Given the description of an element on the screen output the (x, y) to click on. 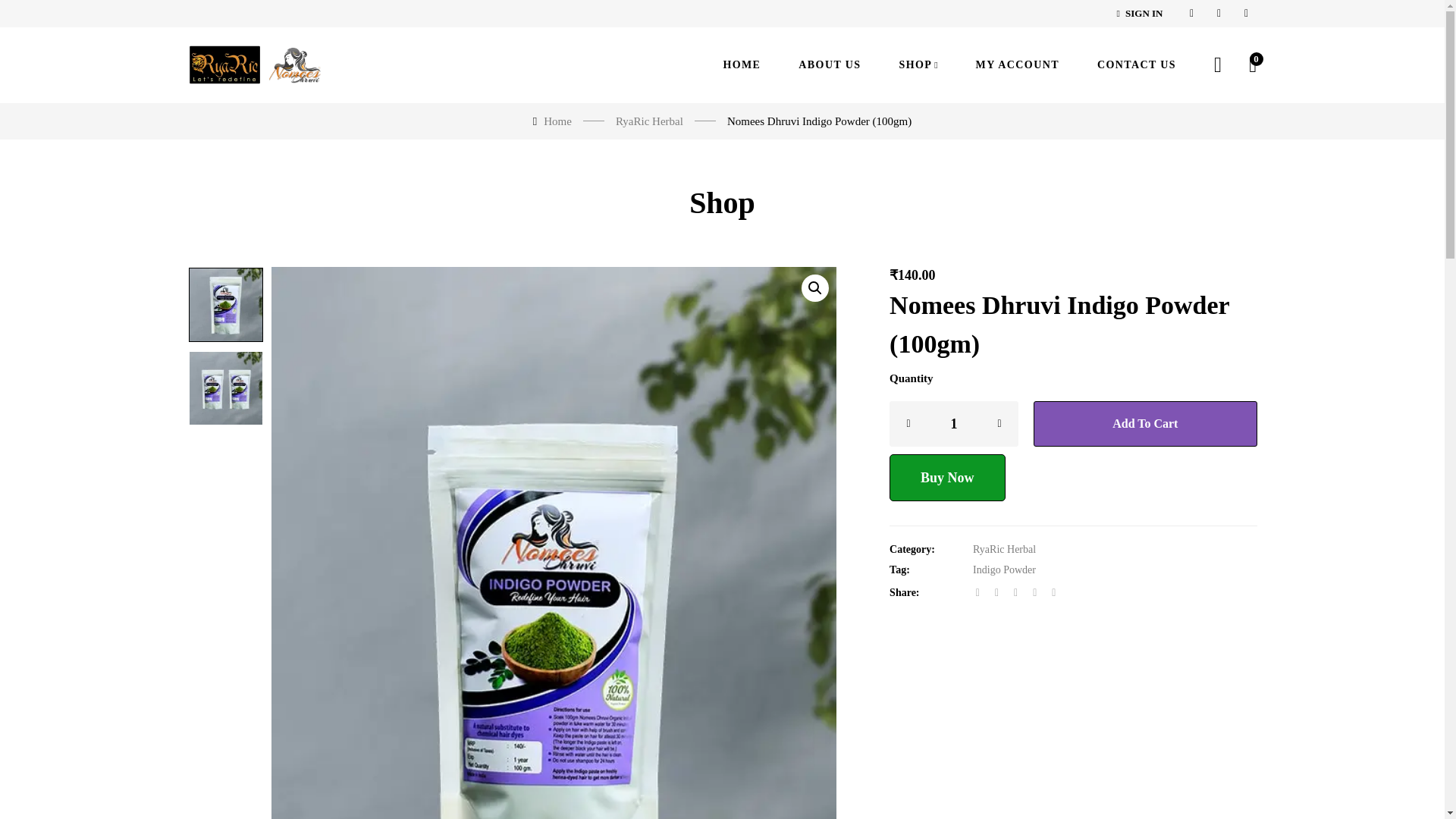
HOME (741, 65)
Sign in (1139, 13)
Add To Cart (1144, 423)
CONTACT US (1136, 65)
1 (953, 423)
Shopping Cart (1252, 65)
Qty (953, 423)
RyaRic Herbal (648, 121)
SIGN IN (1139, 13)
SHOP (917, 65)
Home (557, 121)
0 (1252, 65)
My Account (1217, 65)
MY ACCOUNT (1017, 65)
